Given the description of an element on the screen output the (x, y) to click on. 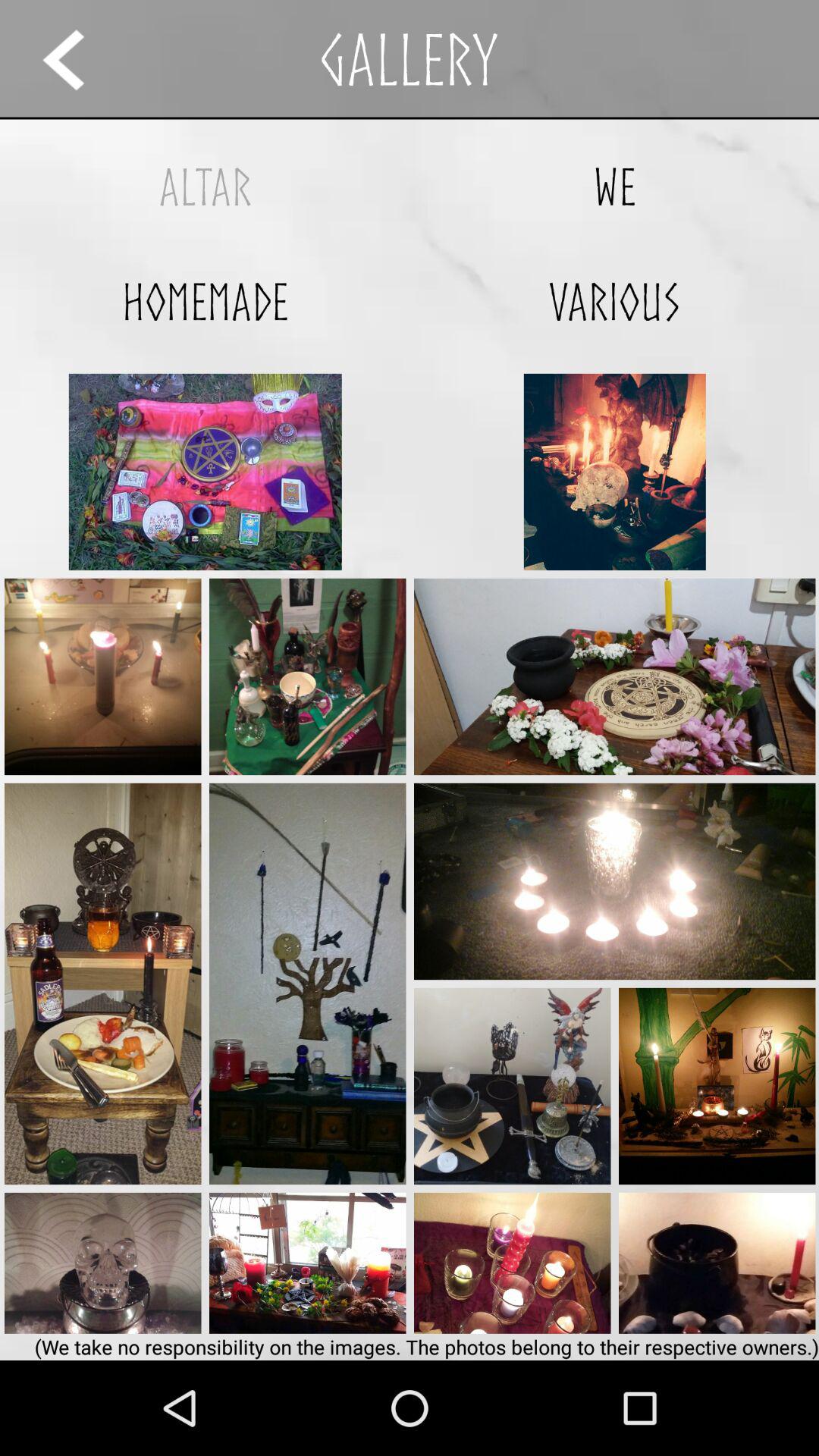
tap the app to the left of various (204, 301)
